Given the description of an element on the screen output the (x, y) to click on. 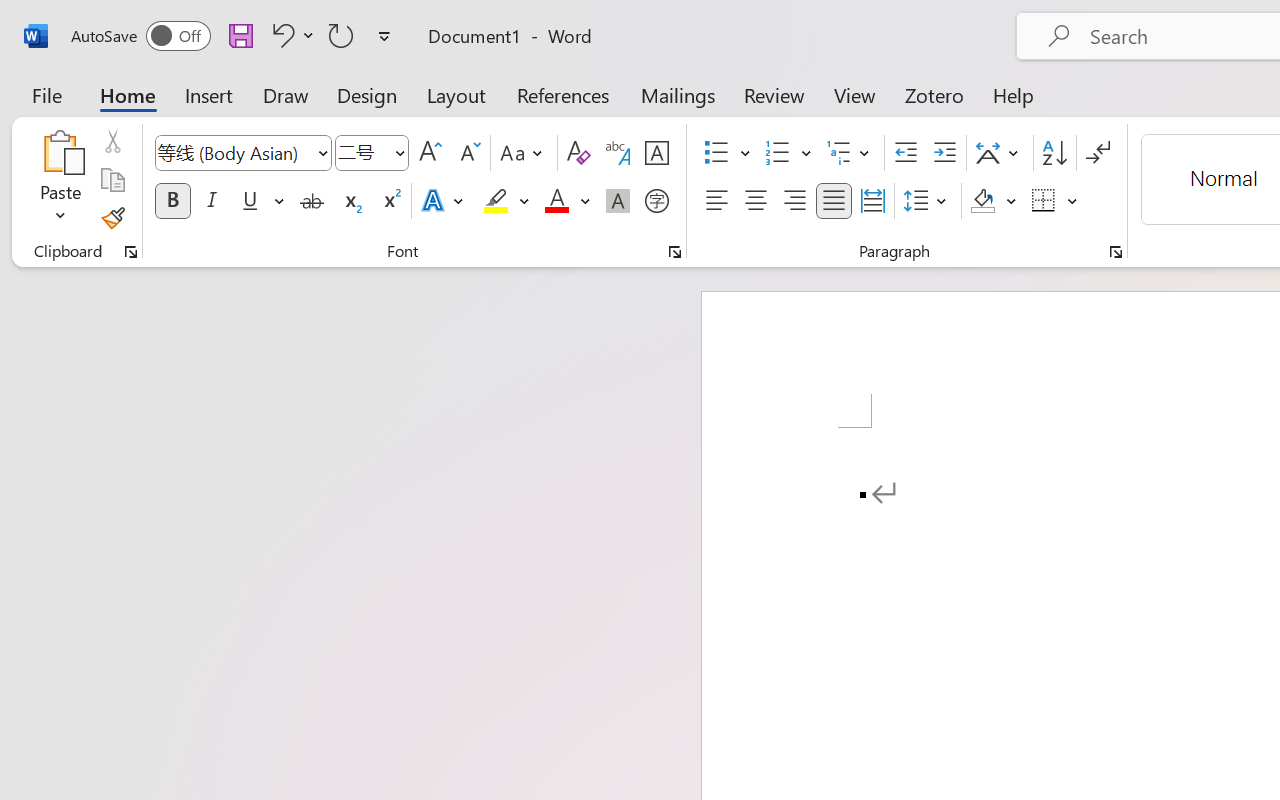
Undo Apply Quick Style (280, 35)
